Given the description of an element on the screen output the (x, y) to click on. 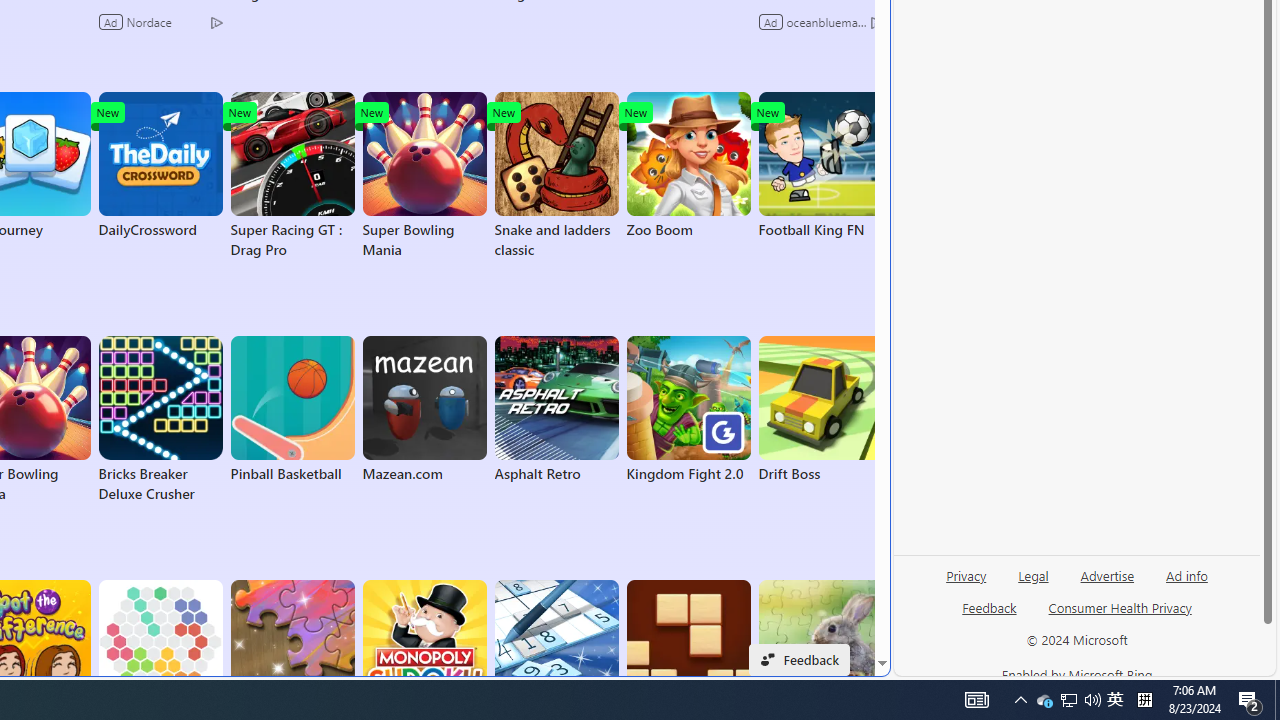
Drift Boss (820, 409)
